Given the description of an element on the screen output the (x, y) to click on. 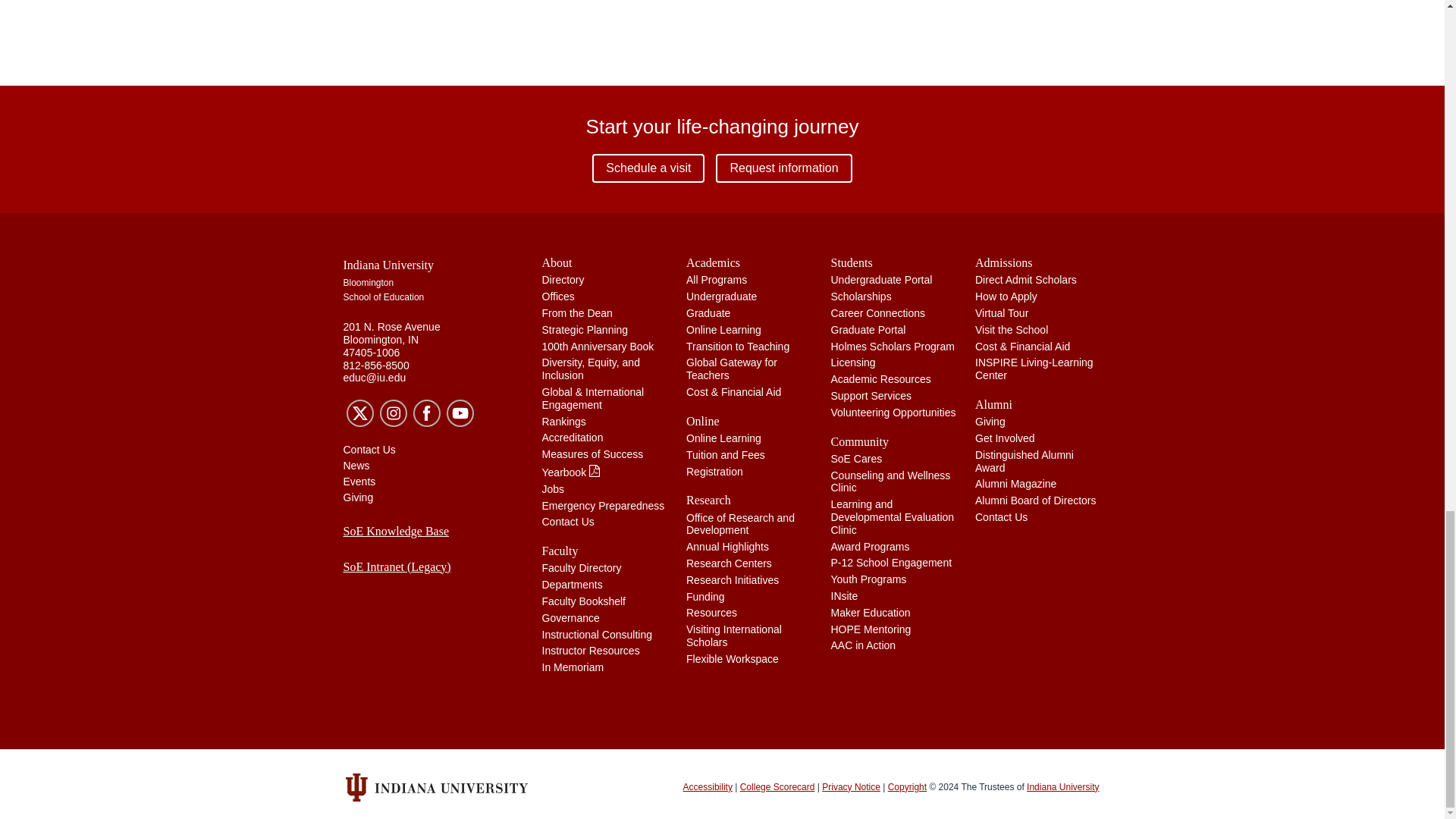
Strategic Planning (584, 329)
Emergency Preparedness (602, 505)
Schedule a campus visit (648, 167)
Contact Us (567, 521)
Yearbook (571, 472)
100th Anniversary Book (597, 346)
Accreditation (571, 437)
From the Dean (576, 313)
Offices (557, 296)
Jobs (552, 489)
Faculty (604, 550)
Rankings (563, 421)
Request information (783, 167)
Measures of Success (592, 453)
Directory (562, 279)
